Given the description of an element on the screen output the (x, y) to click on. 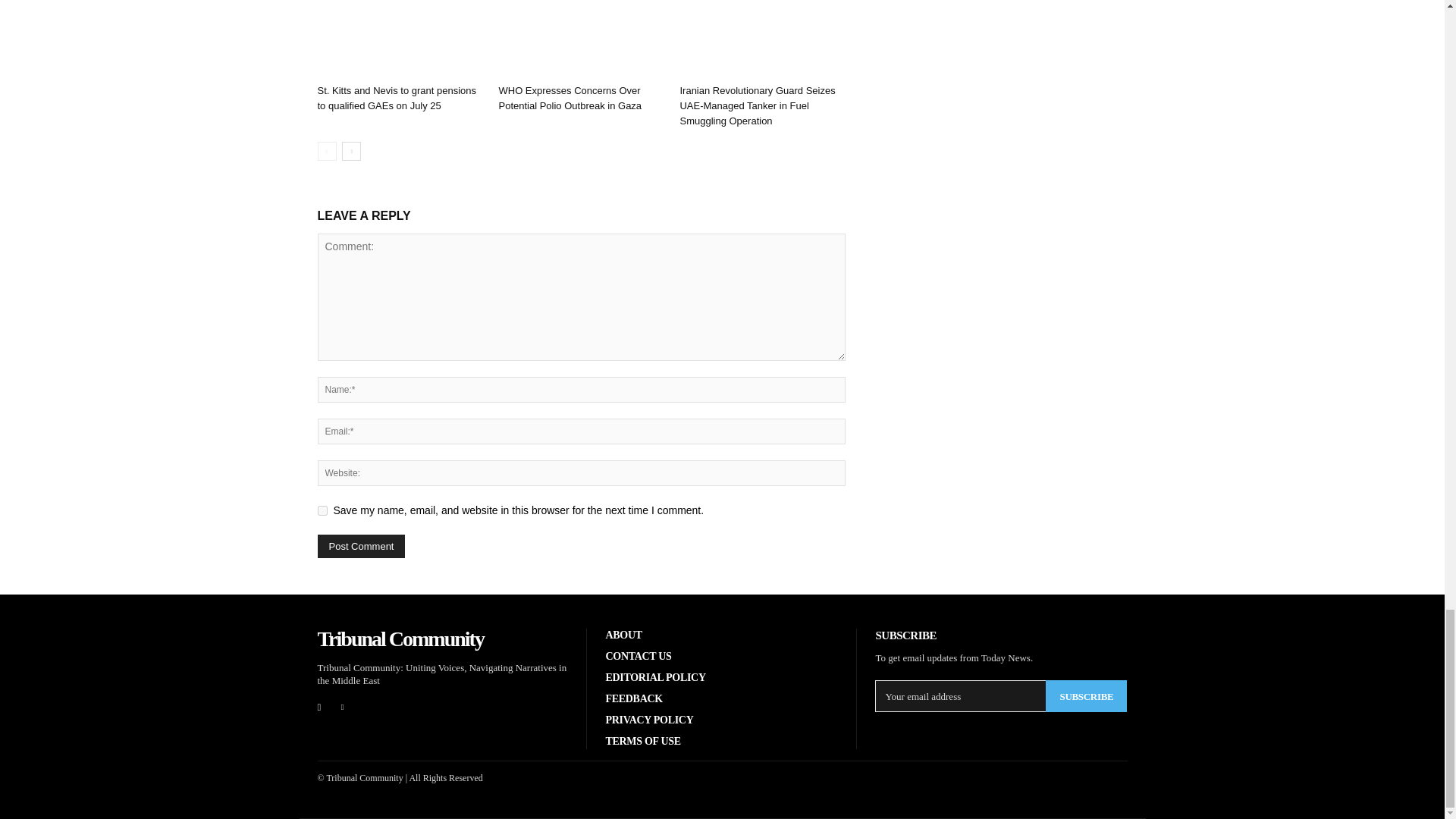
Post Comment (360, 545)
yes (321, 510)
